Given the description of an element on the screen output the (x, y) to click on. 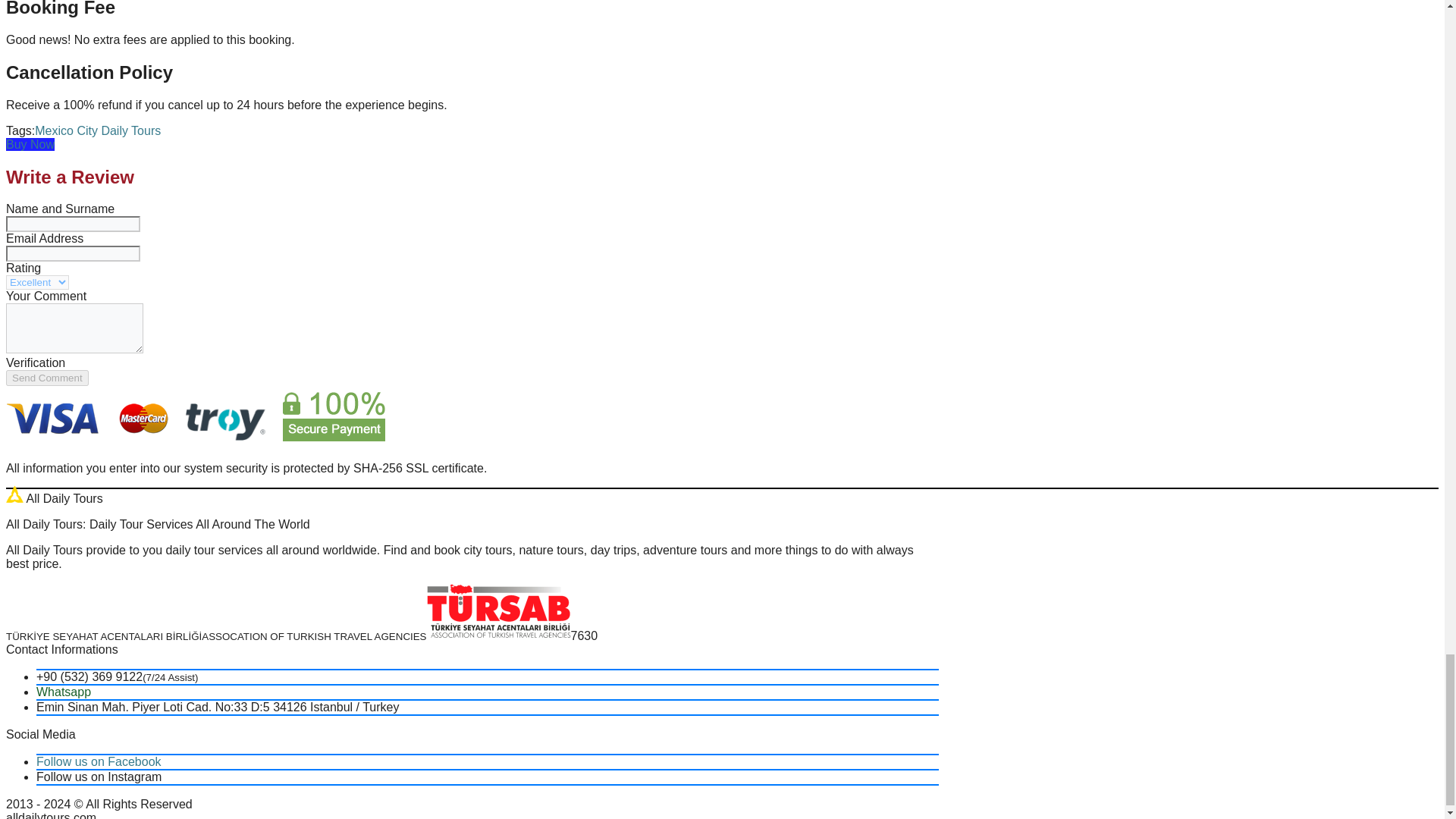
System Security (195, 415)
Buy Now (30, 144)
Mexico City Daily Tours (97, 130)
Follow us on Facebook (98, 761)
All Daily Tours (14, 493)
Whatsapp (63, 691)
TURSAB (498, 611)
Send Comment (46, 377)
